Given the description of an element on the screen output the (x, y) to click on. 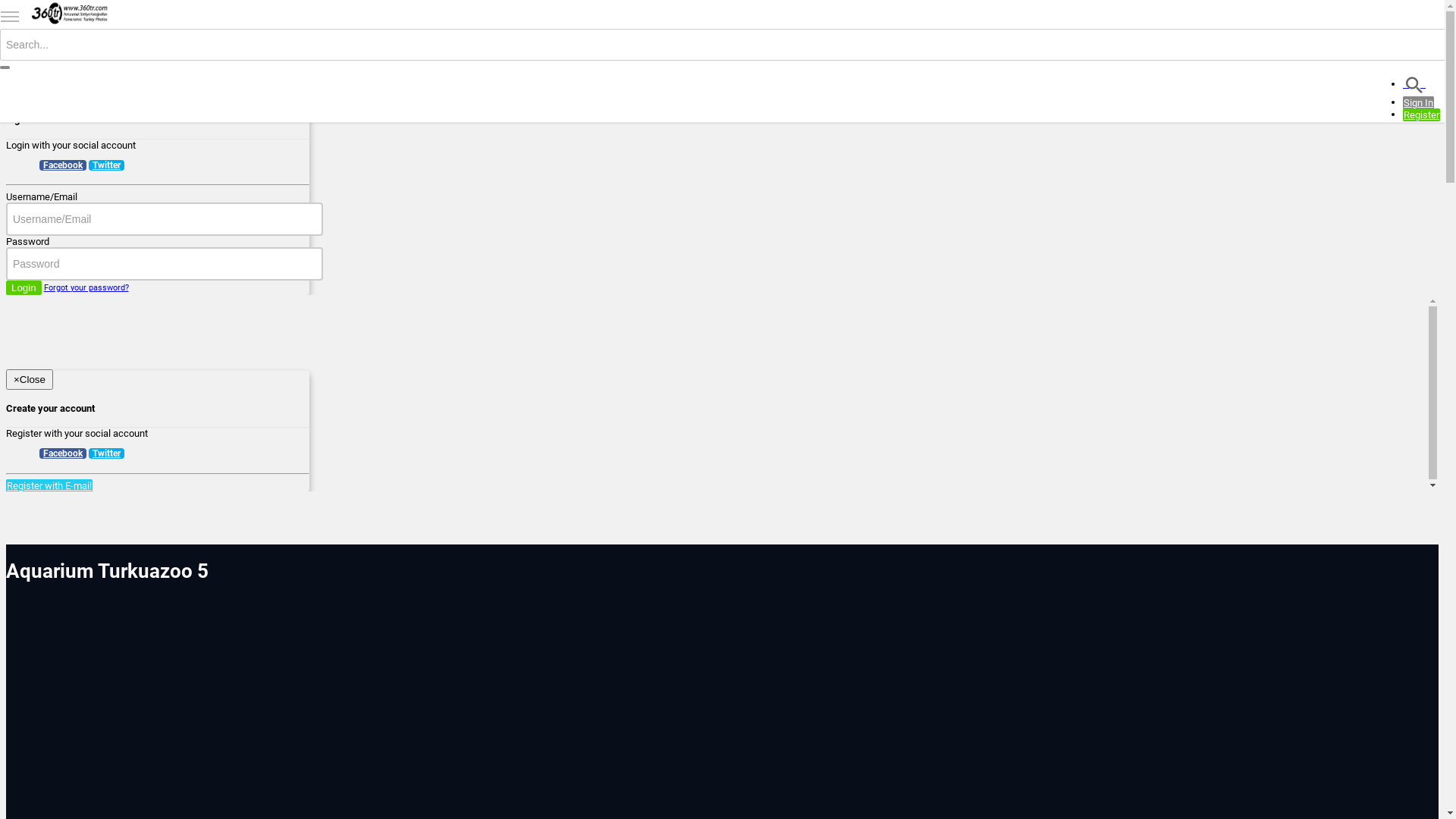
Register Element type: text (1421, 114)
Facebook Element type: text (62, 453)
Twitter Element type: text (106, 165)
Show menu Element type: text (9, 16)
Twitter Element type: text (106, 453)
Sign In Element type: text (1418, 102)
Advertisement Element type: hover (449, 711)
Register with E-mail Element type: text (49, 485)
Search Element type: hover (1413, 83)
Forgot your password? Element type: text (85, 286)
Facebook Element type: text (62, 165)
360TR.COM Element type: hover (69, 13)
Login Element type: text (23, 287)
